Given the description of an element on the screen output the (x, y) to click on. 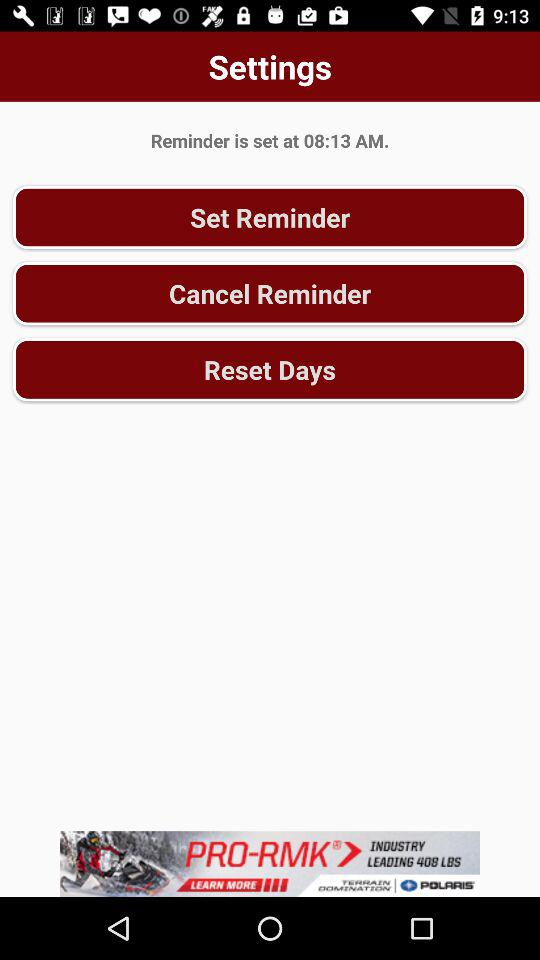
advertisement link (270, 864)
